Given the description of an element on the screen output the (x, y) to click on. 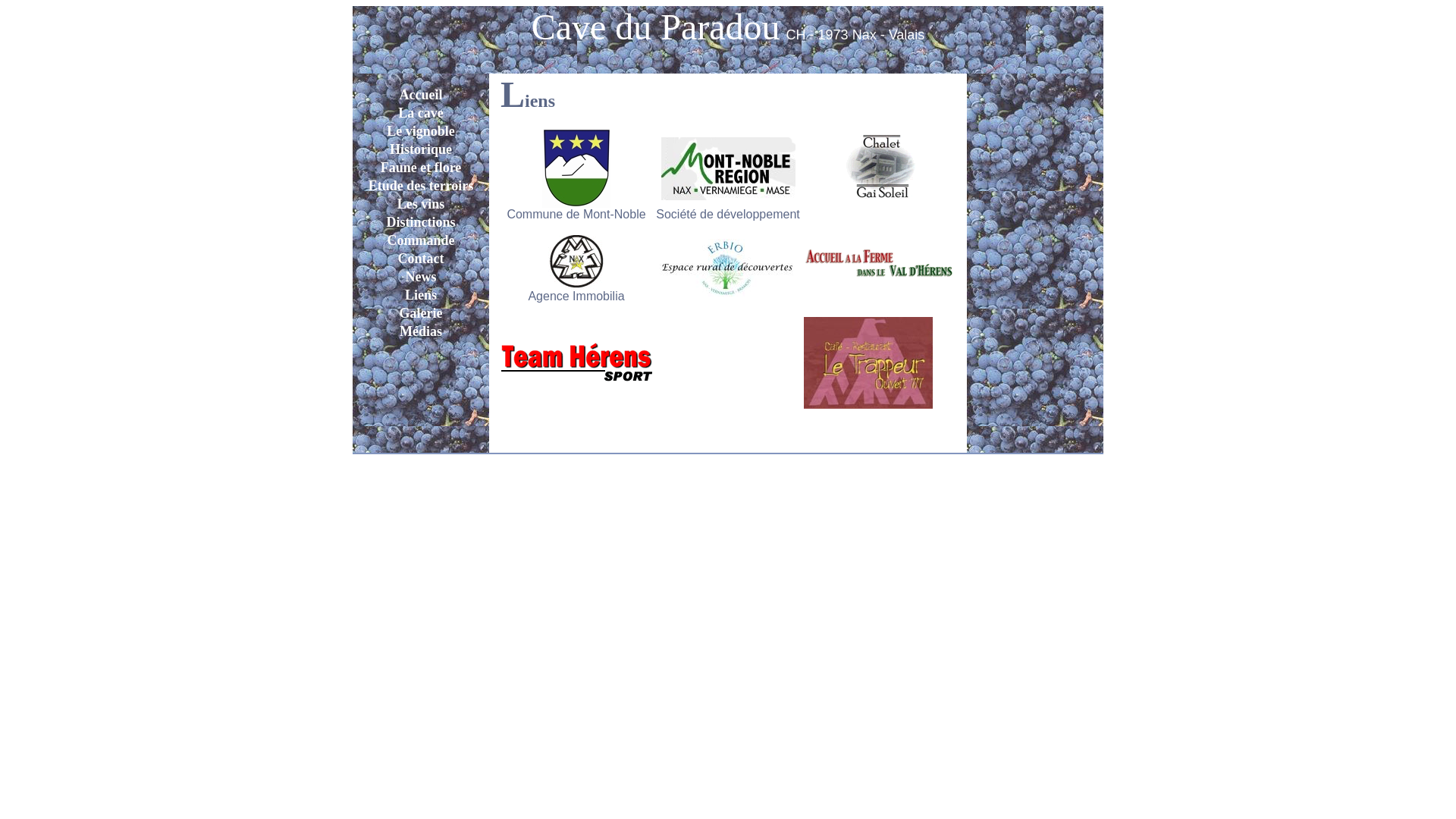
Contact Element type: text (420, 258)
Le vignoble Element type: text (420, 130)
Les vins Element type: text (421, 203)
Agence Immobilia Element type: text (575, 295)
Commun Element type: text (530, 213)
Etude des terroirs Element type: text (420, 185)
Commande Element type: text (420, 239)
Historique Element type: text (420, 148)
Galerie Element type: text (420, 312)
Liens Element type: text (420, 294)
Faune et flore Element type: text (420, 167)
e de Mont-Noble Element type: text (600, 213)
News Element type: text (420, 276)
La cave Element type: text (420, 112)
Distinctions Element type: text (420, 221)
Accueil Element type: text (420, 94)
